Given the description of an element on the screen output the (x, y) to click on. 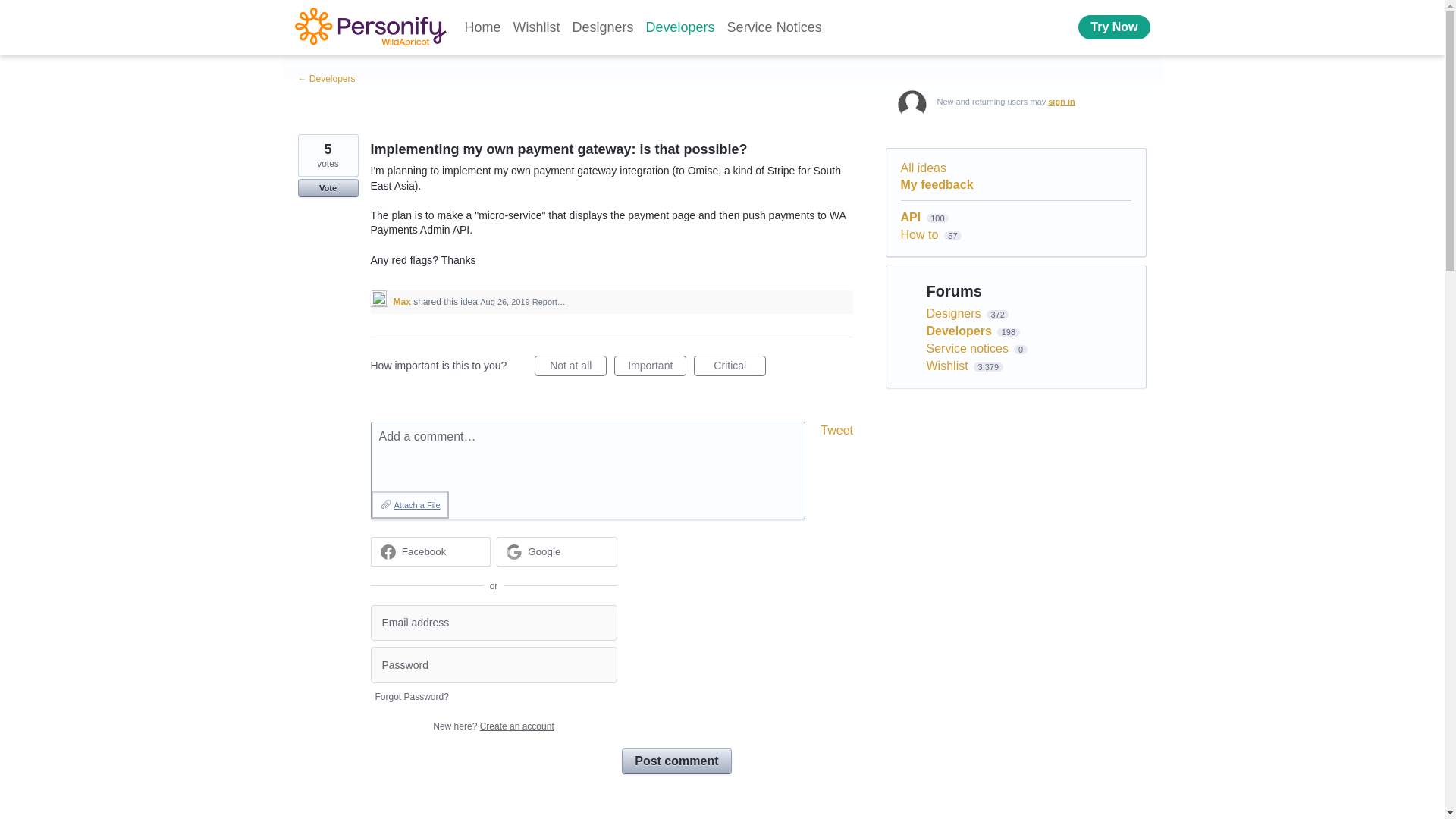
Try Now (1114, 27)
Attach a File (409, 504)
Critical (729, 365)
Designers (603, 27)
Service Notices (774, 27)
Wishlist (536, 27)
Developers (680, 27)
Google sign in (556, 552)
Skip to content (12, 12)
Important (649, 365)
Google (543, 551)
Membership Software - WildApricot (369, 26)
Vote (327, 188)
Not at all (570, 365)
Try Now (1114, 27)
